Given the description of an element on the screen output the (x, y) to click on. 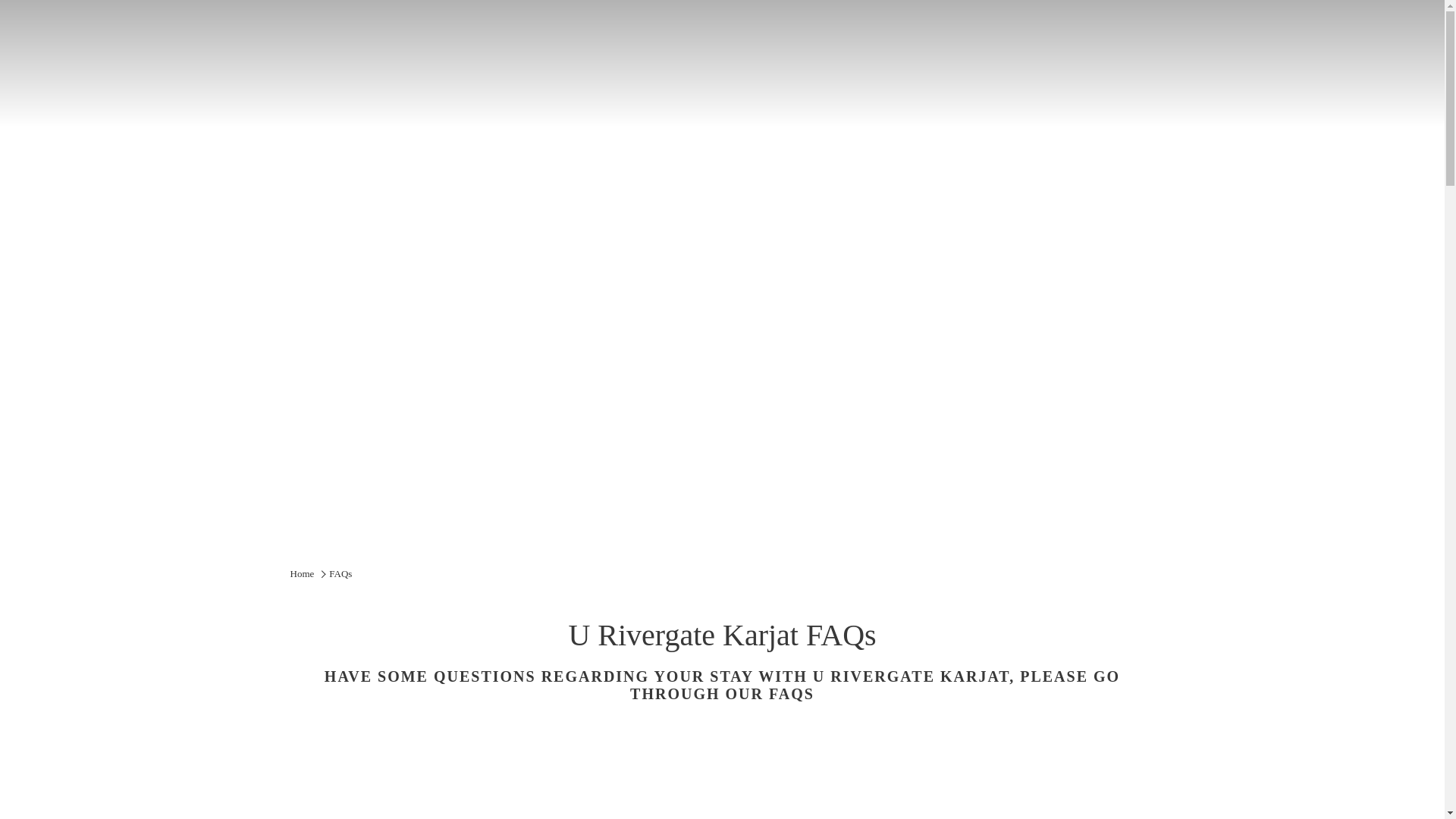
Home (301, 573)
FAQs (340, 573)
